Given the description of an element on the screen output the (x, y) to click on. 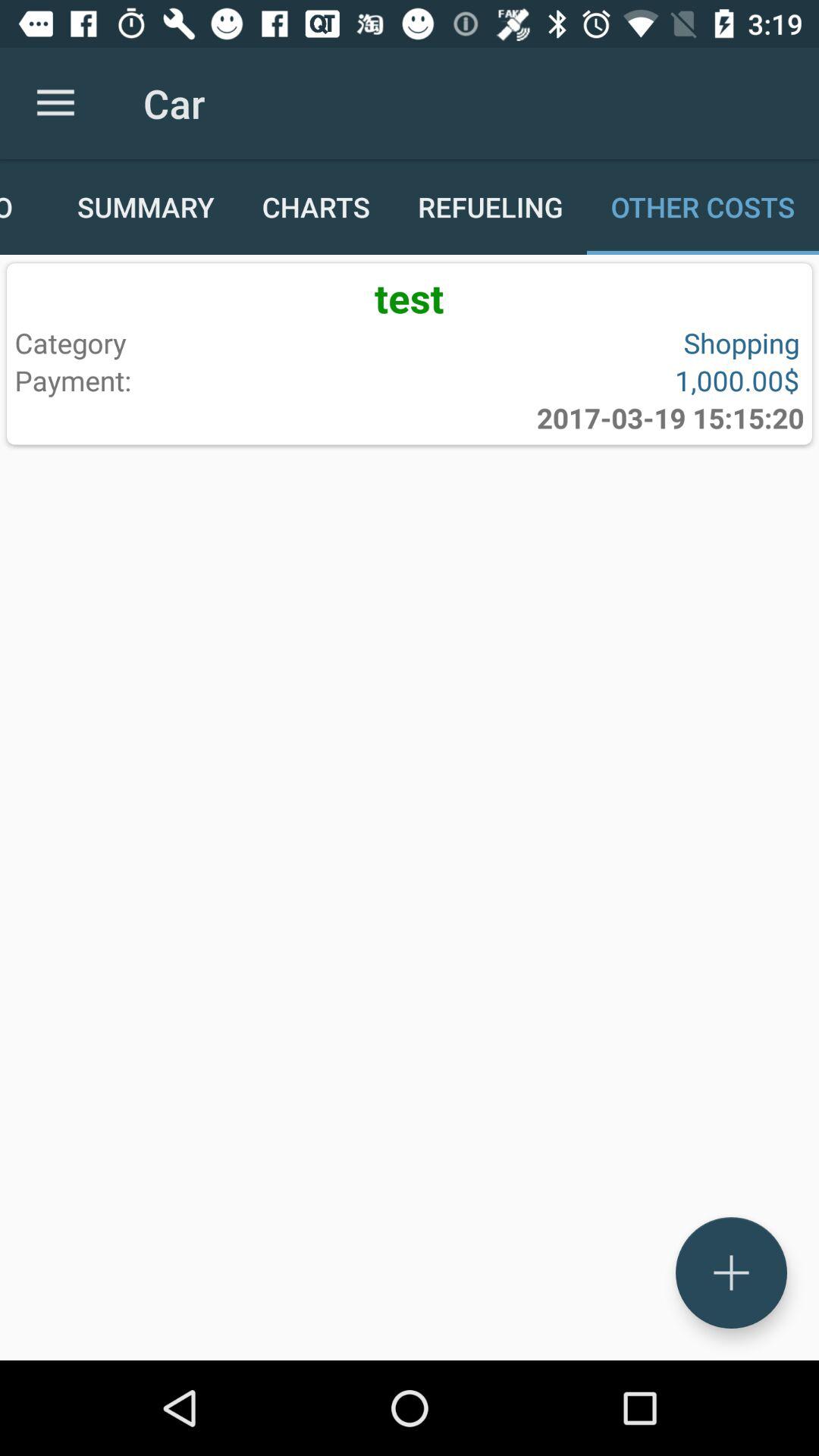
choose the icon below the 1,000.00$ item (670, 417)
